Given the description of an element on the screen output the (x, y) to click on. 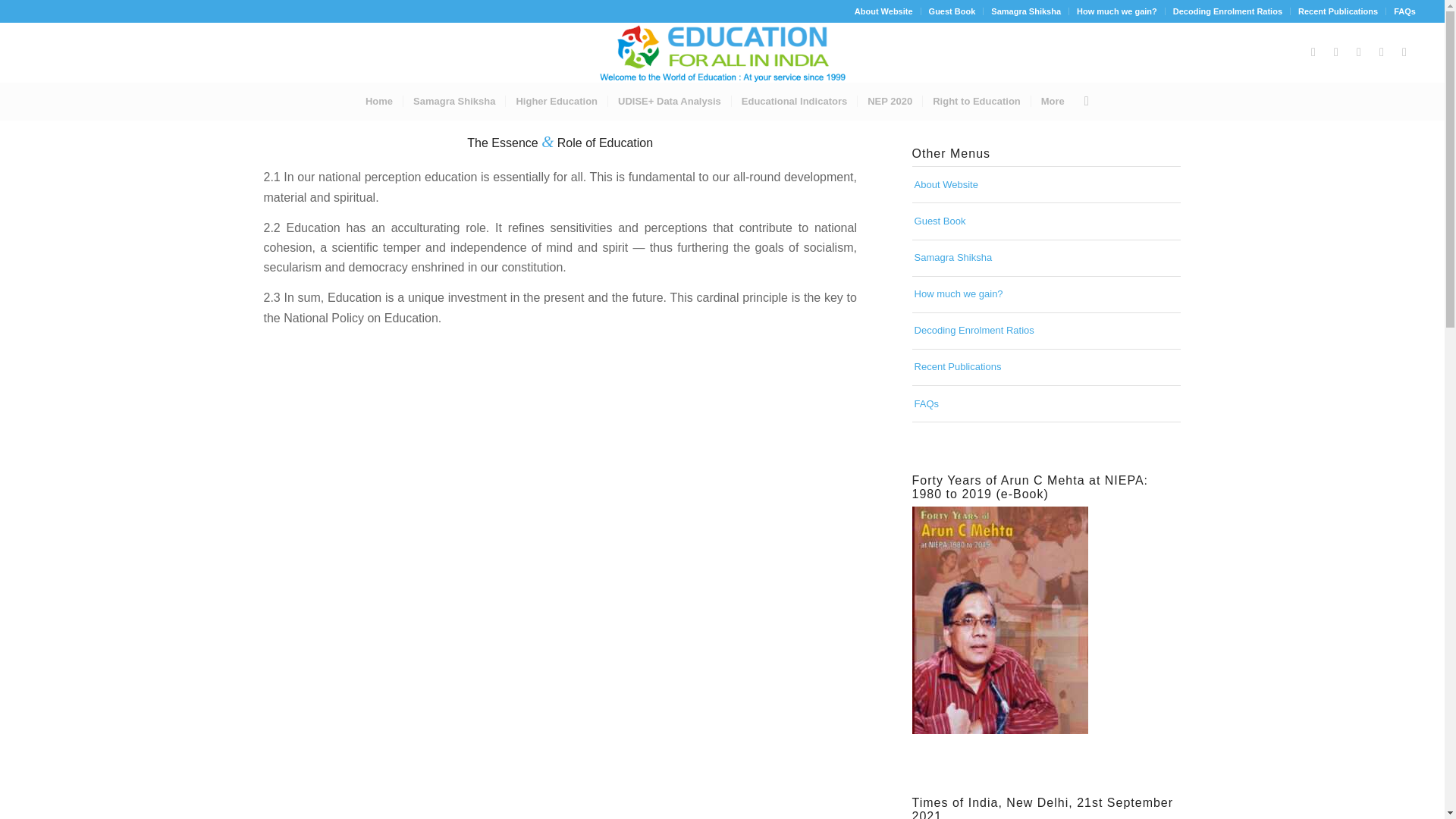
Samagra Shiksha (454, 101)
Guest Book (951, 11)
Samagra Shiksha (1046, 258)
Educational Indicators (793, 101)
Decoding Enrolment Ratios (1046, 330)
Twitter (1312, 51)
Home (379, 101)
Recent Publications (1337, 11)
Decoding Enrolment Ratios (1227, 11)
Higher Education (556, 101)
